Given the description of an element on the screen output the (x, y) to click on. 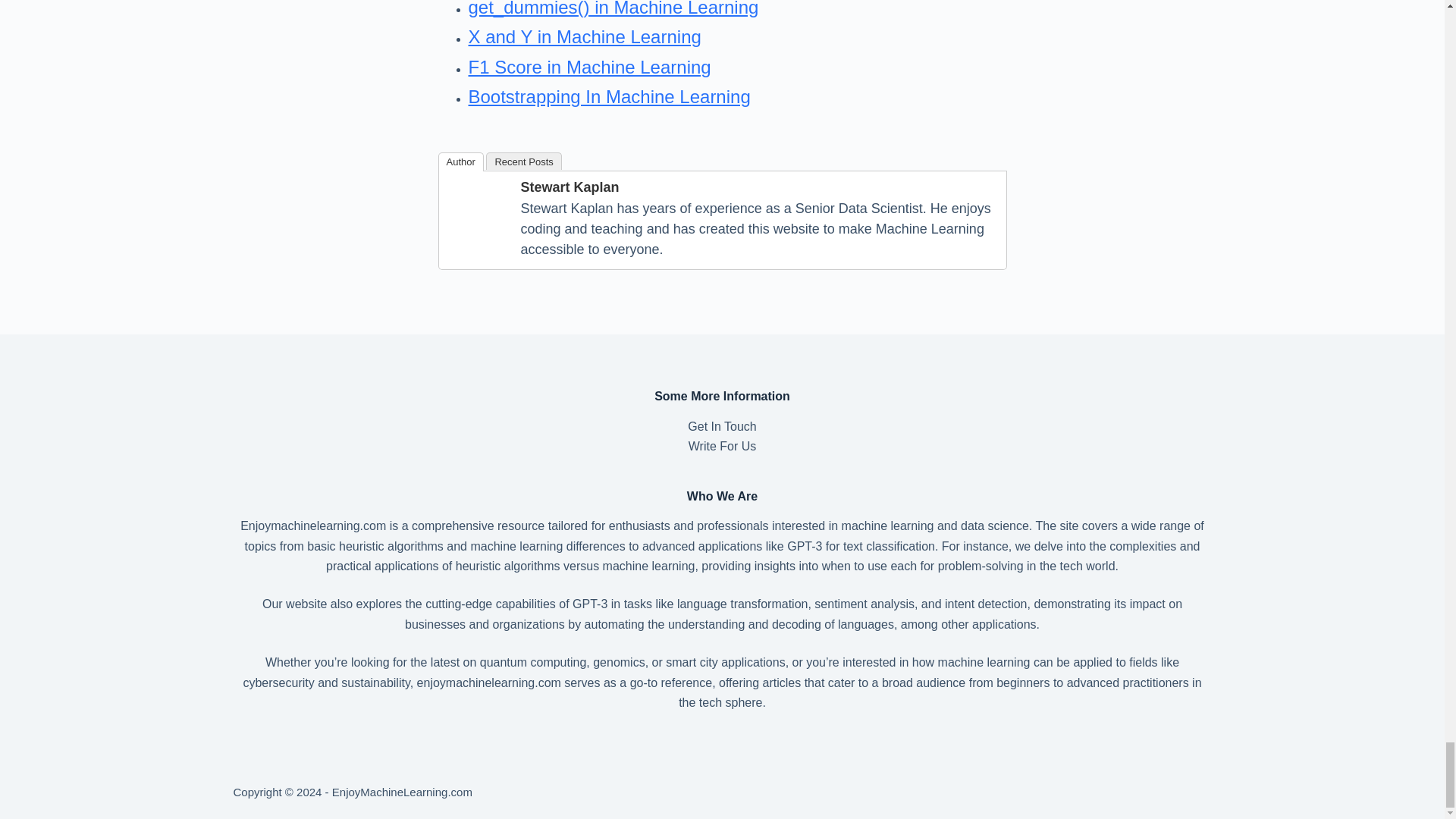
Stewart Kaplan (477, 208)
